Given the description of an element on the screen output the (x, y) to click on. 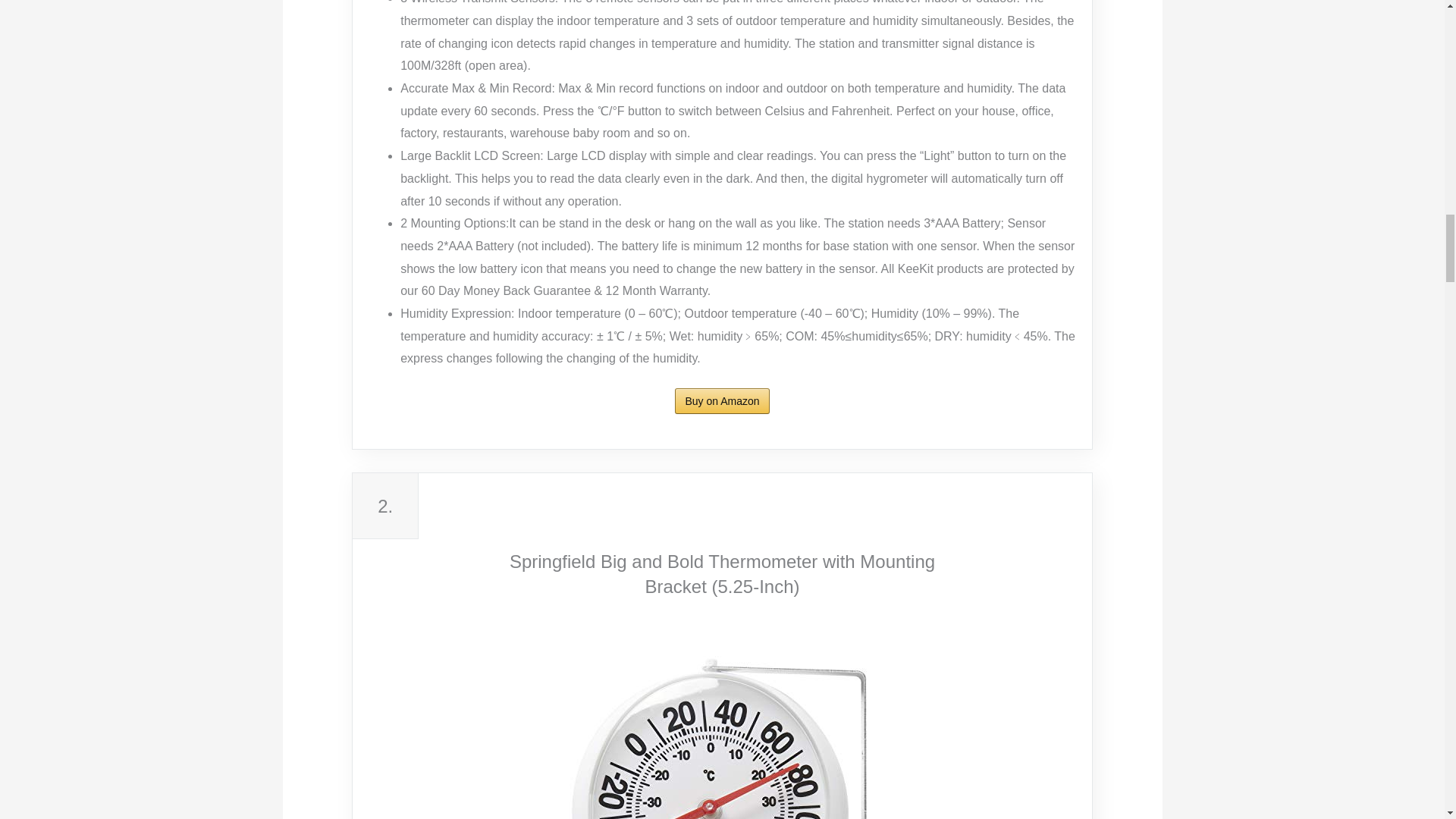
Buy on Amazon (721, 401)
Buy on Amazon (721, 401)
